Given the description of an element on the screen output the (x, y) to click on. 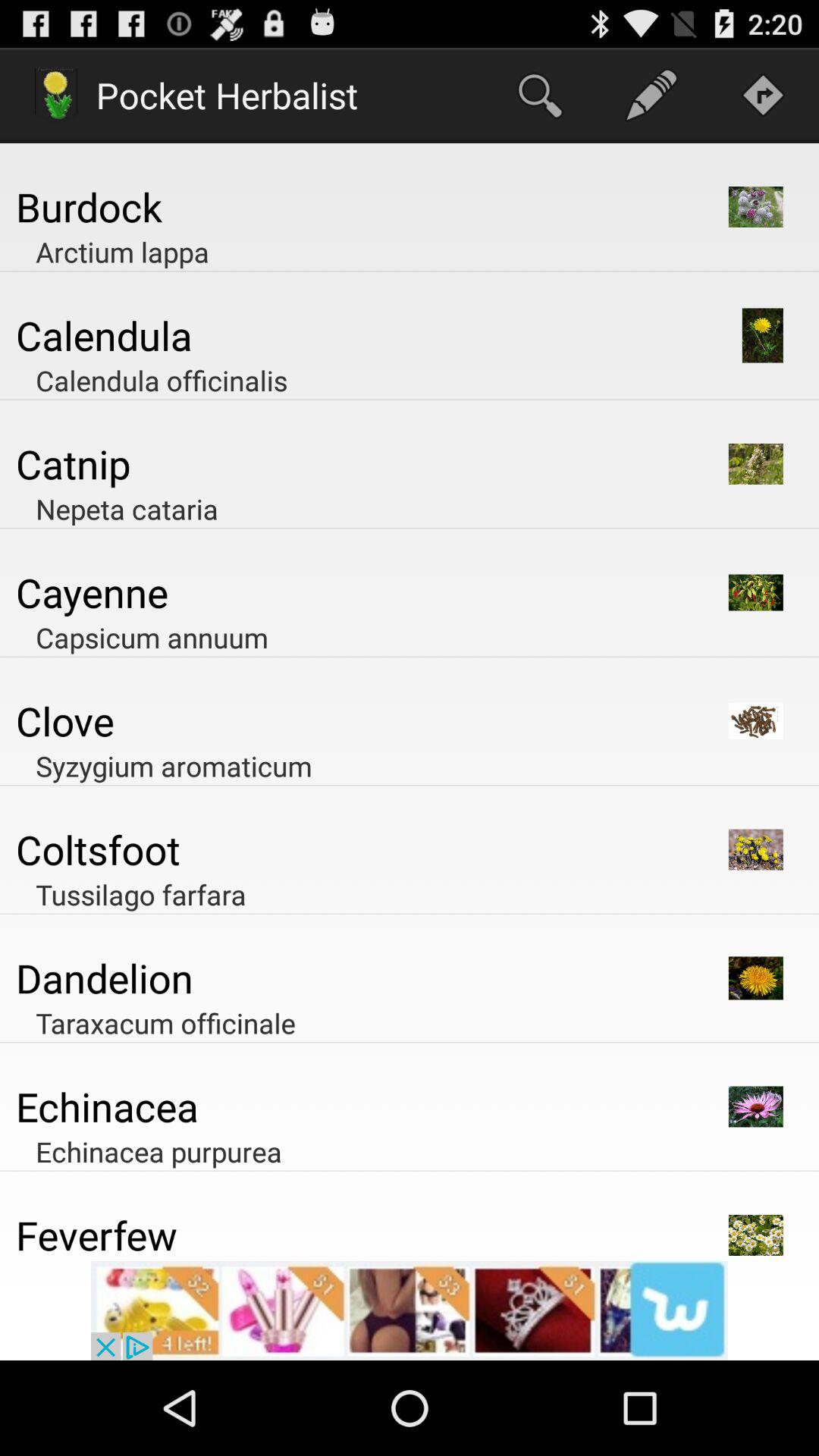
advertisement display window (409, 1310)
